Given the description of an element on the screen output the (x, y) to click on. 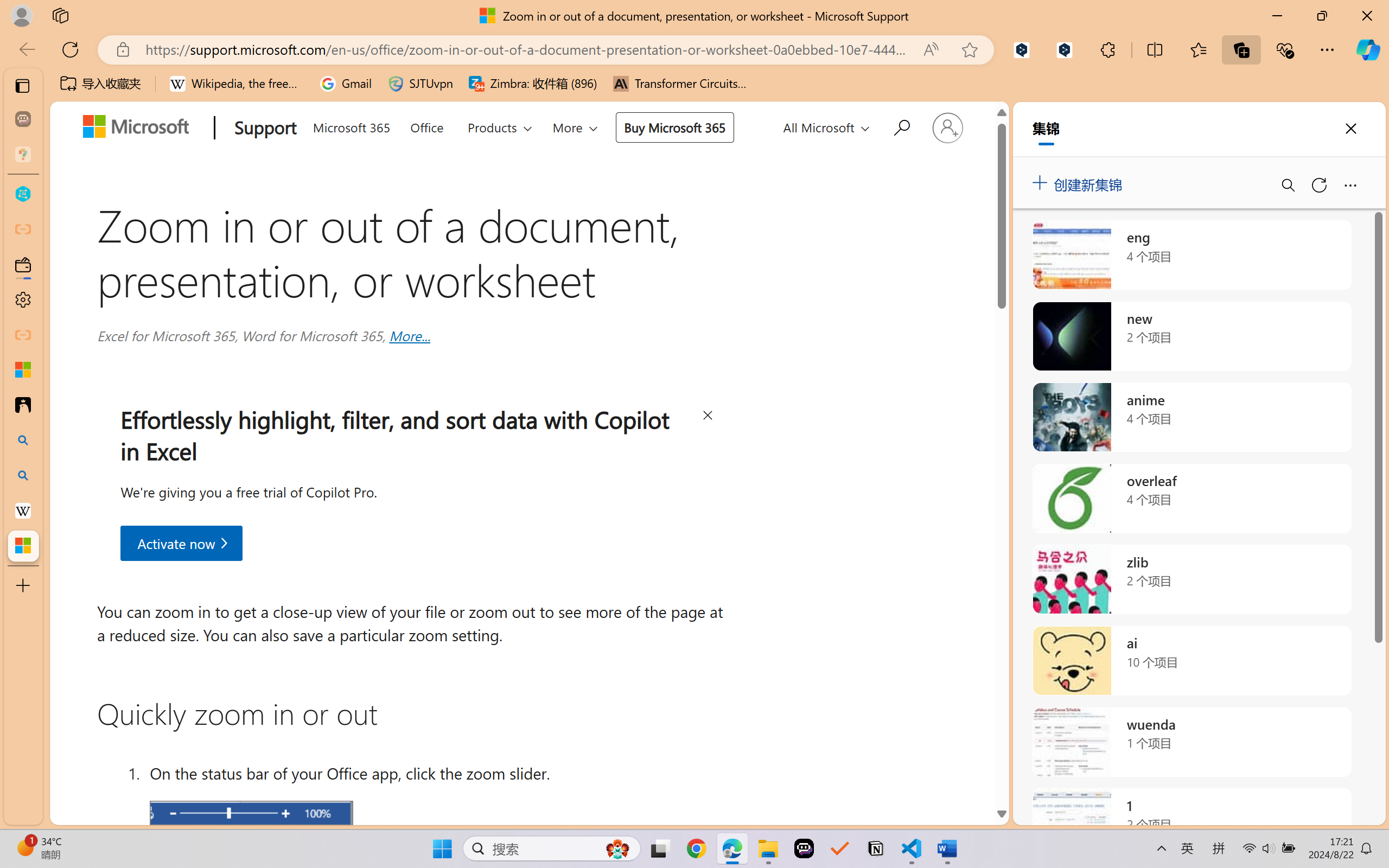
More (576, 126)
Zoom slider (250, 814)
Support (262, 128)
SJTUvpn (419, 83)
wangyian_dsw - DSW (22, 194)
